Given the description of an element on the screen output the (x, y) to click on. 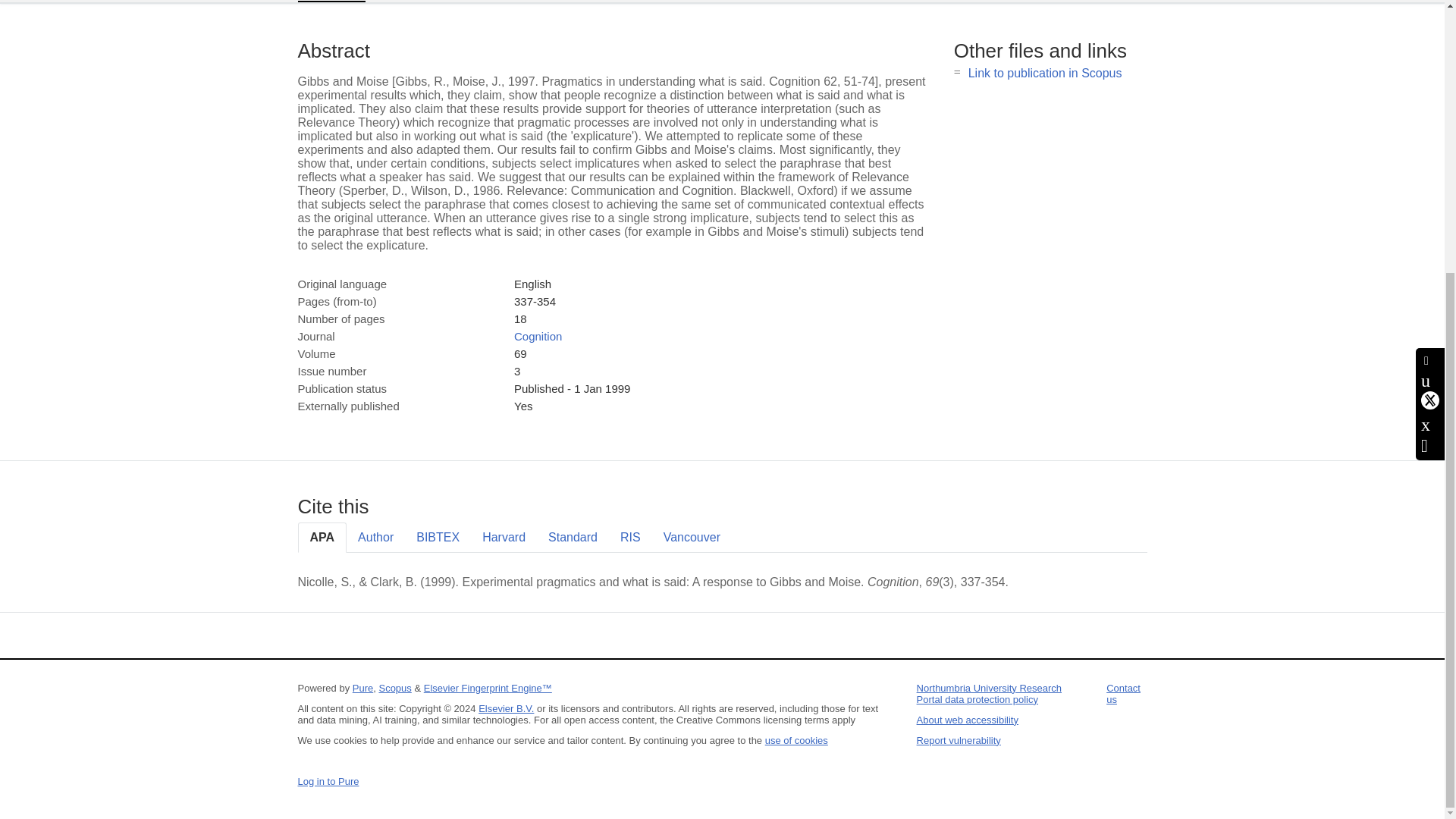
Elsevier B.V. (506, 708)
Link to publication in Scopus (1045, 72)
Contact us (1123, 693)
Log in to Pure (327, 781)
Pure (362, 687)
About web accessibility (967, 719)
Overview (331, 1)
Cognition (537, 336)
Report vulnerability (959, 740)
